Given the description of an element on the screen output the (x, y) to click on. 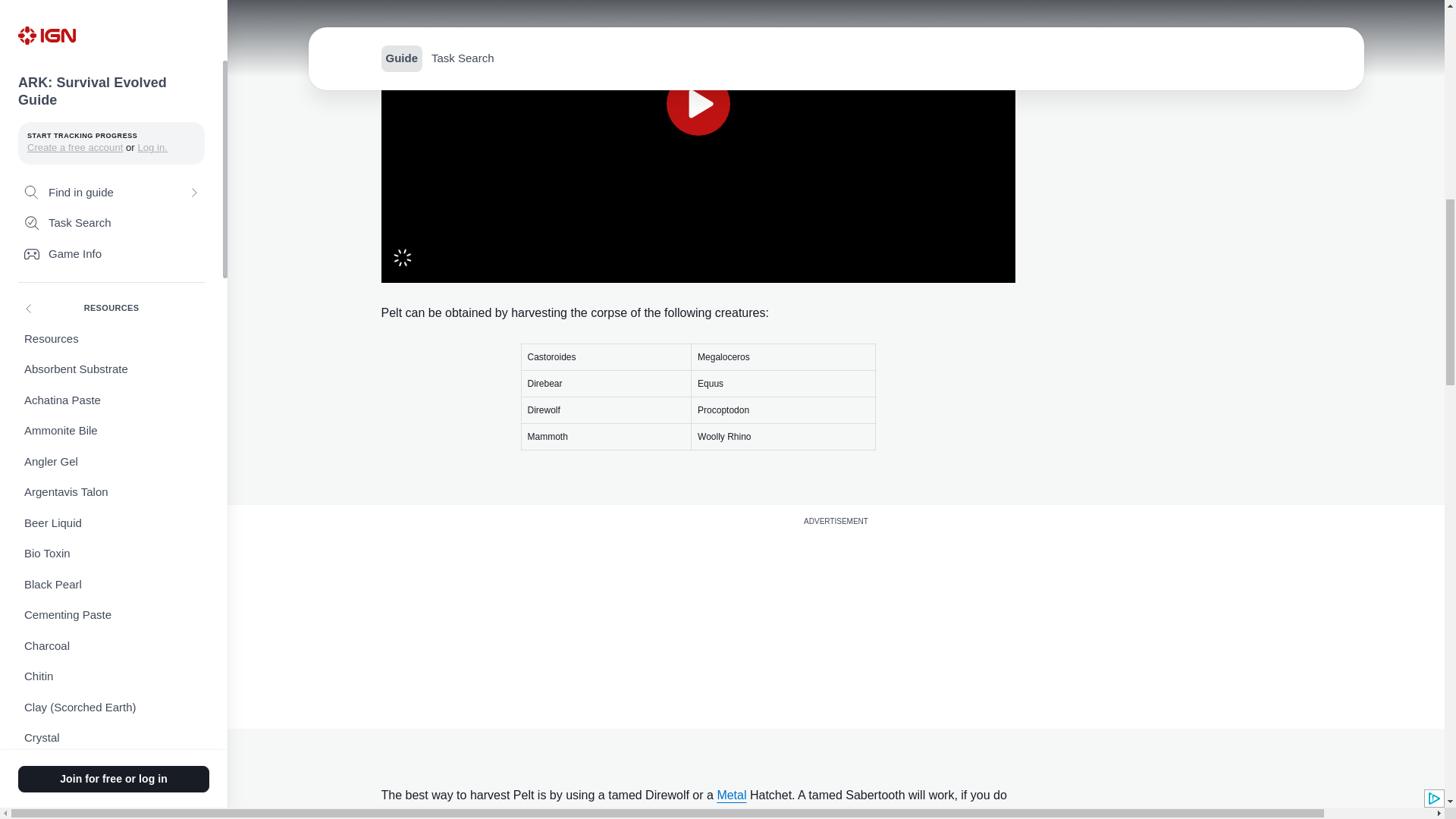
Leech Blood (111, 366)
Megladon Tooth (111, 428)
Metal Ore (111, 458)
Fertilizer (111, 89)
Flint (111, 182)
Gasoline (111, 212)
Electronics (111, 6)
Gunpowder (111, 243)
Hide (111, 274)
Element Shards (111, 59)
